Given the description of an element on the screen output the (x, y) to click on. 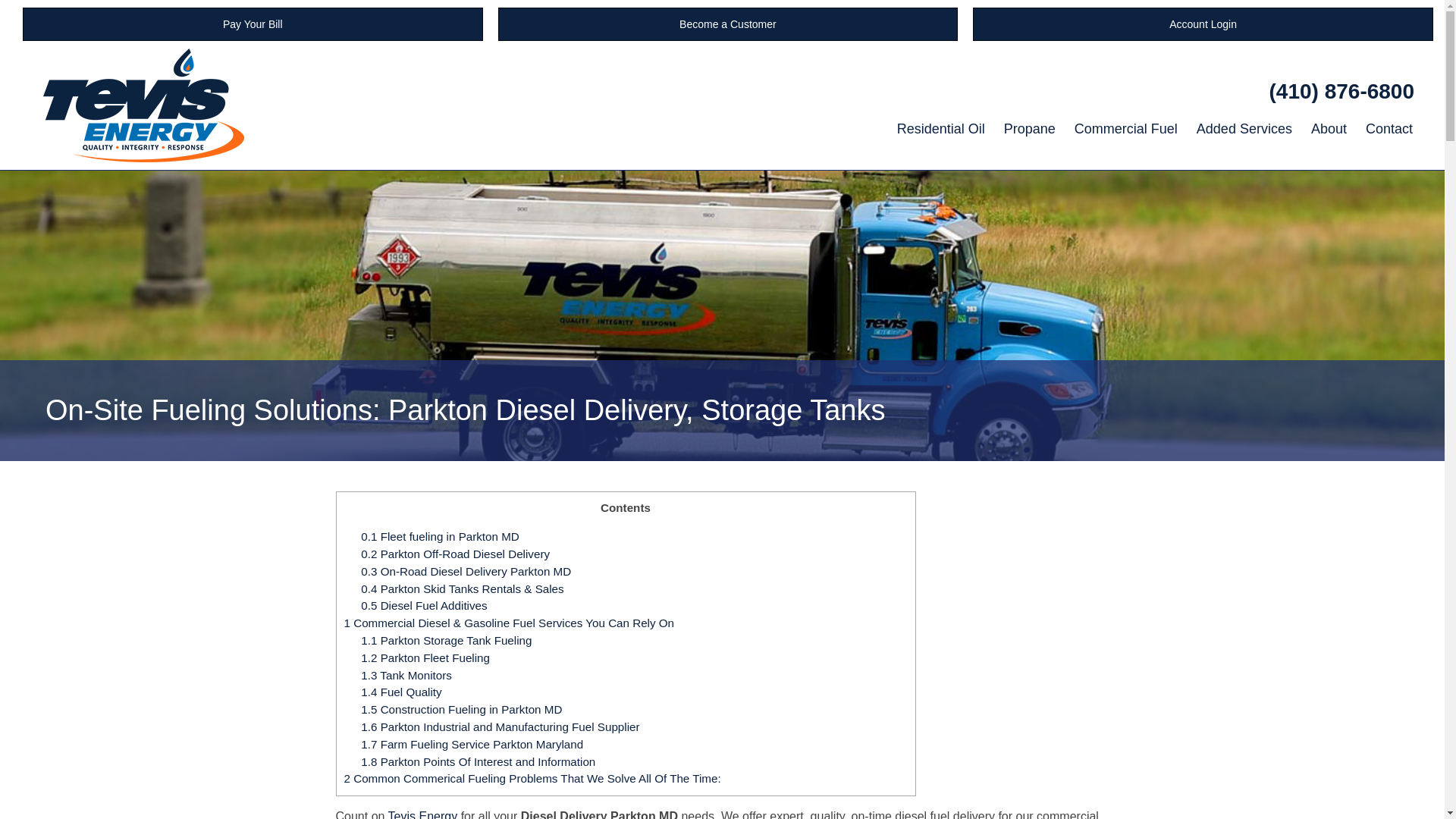
Tevis-Energy-Logo-new (143, 105)
Become a Customer (727, 23)
Added Services (1244, 129)
Commercial Fuel (1125, 129)
Propane (1029, 129)
Pay Your Bill (253, 23)
Residential Oil (941, 129)
Account Login (1202, 23)
